Given the description of an element on the screen output the (x, y) to click on. 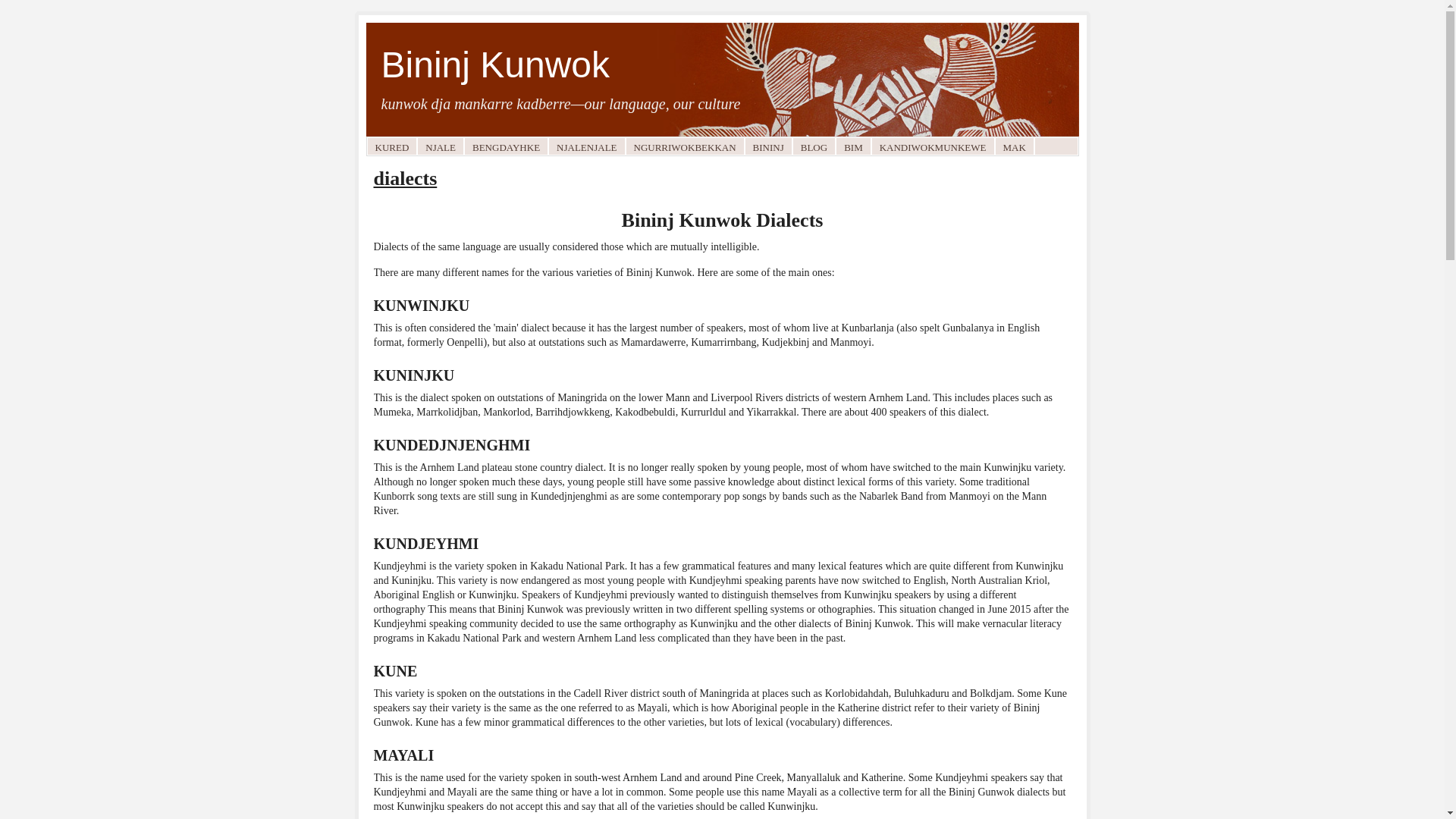
Bininj Kunwok Element type: text (494, 64)
BLOG Element type: text (813, 146)
BENGDAYHKE Element type: text (505, 146)
dialects Element type: text (404, 178)
KURED Element type: text (391, 146)
KANDIWOKMUNKEWE Element type: text (933, 146)
NJALENJALE Element type: text (586, 146)
NJALE Element type: text (440, 146)
BININJ Element type: text (768, 146)
MAK Element type: text (1013, 146)
NGURRIWOKBEKKAN Element type: text (684, 146)
BIM Element type: text (853, 146)
